Given the description of an element on the screen output the (x, y) to click on. 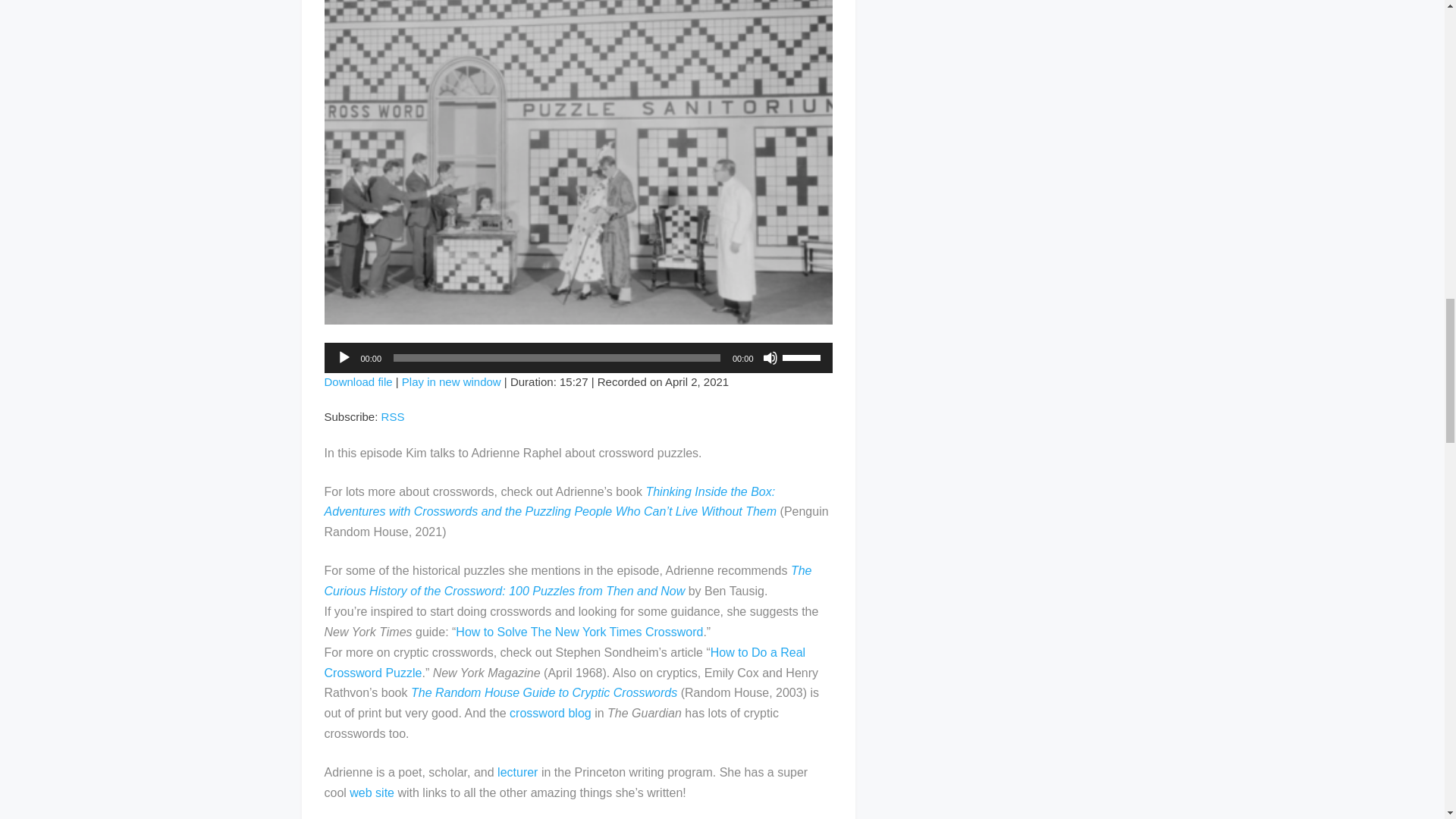
Mute (769, 357)
RSS (392, 416)
Crosswords  (358, 381)
Crosswords  (450, 381)
Play (344, 357)
